Given the description of an element on the screen output the (x, y) to click on. 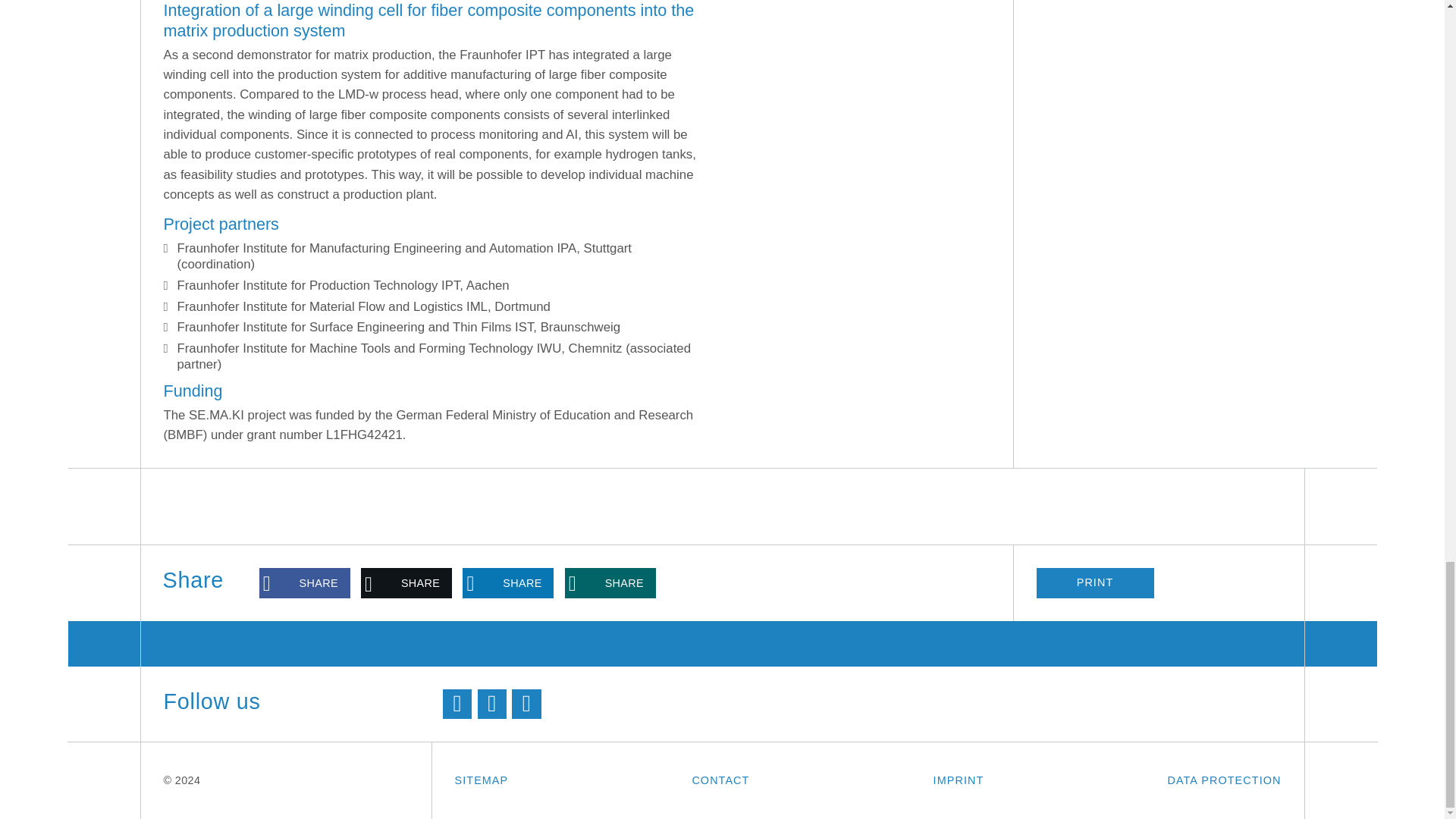
Visit us on Instagram (526, 704)
Share on XING (610, 583)
Share on LinkedIn (508, 583)
Share on Facebook (304, 583)
Share on X (406, 583)
